Given the description of an element on the screen output the (x, y) to click on. 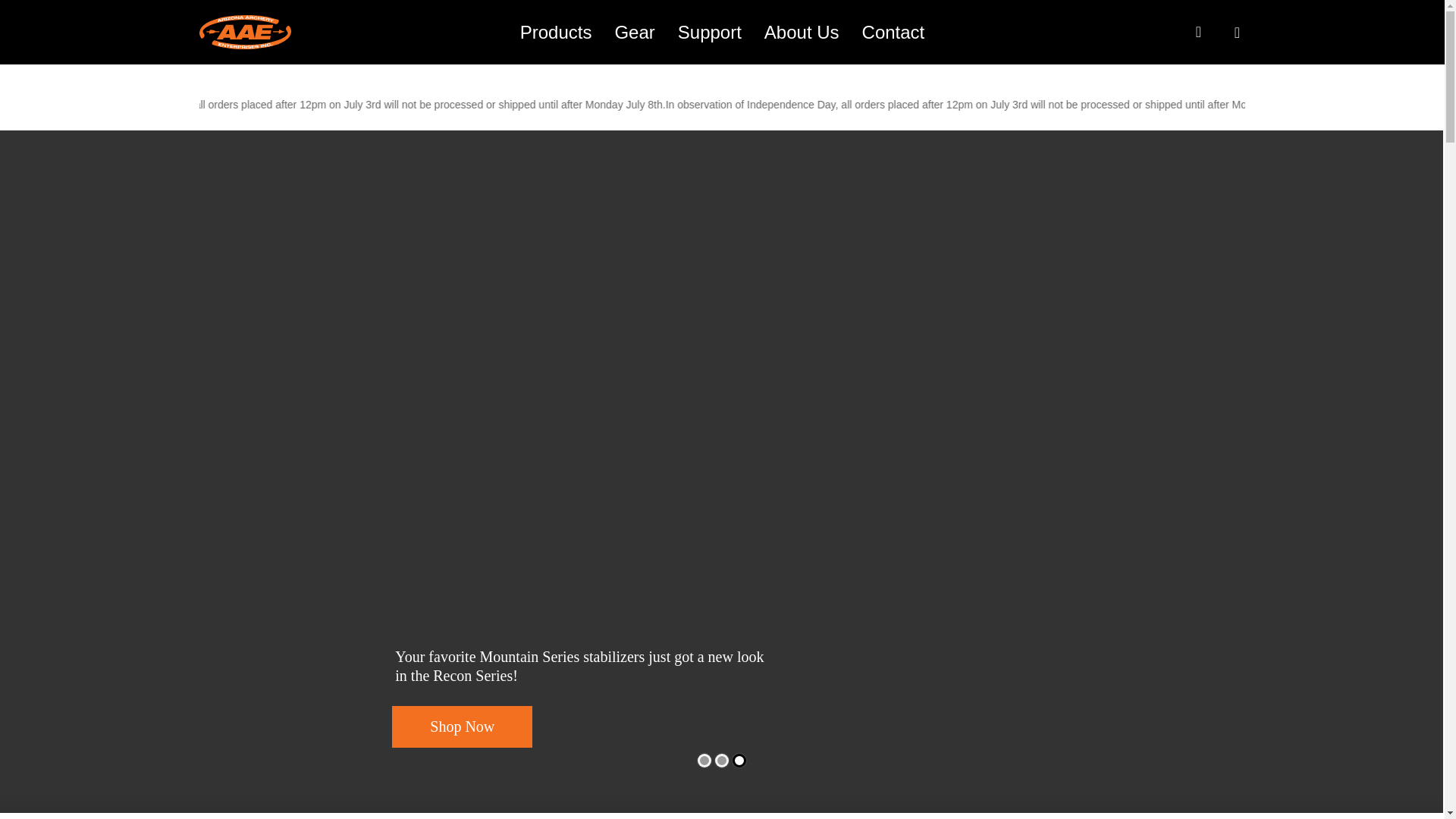
Support (709, 31)
Gear (633, 31)
Shop Now (461, 726)
search (1198, 32)
About Us (801, 31)
Contact (893, 31)
Products (556, 31)
